Given the description of an element on the screen output the (x, y) to click on. 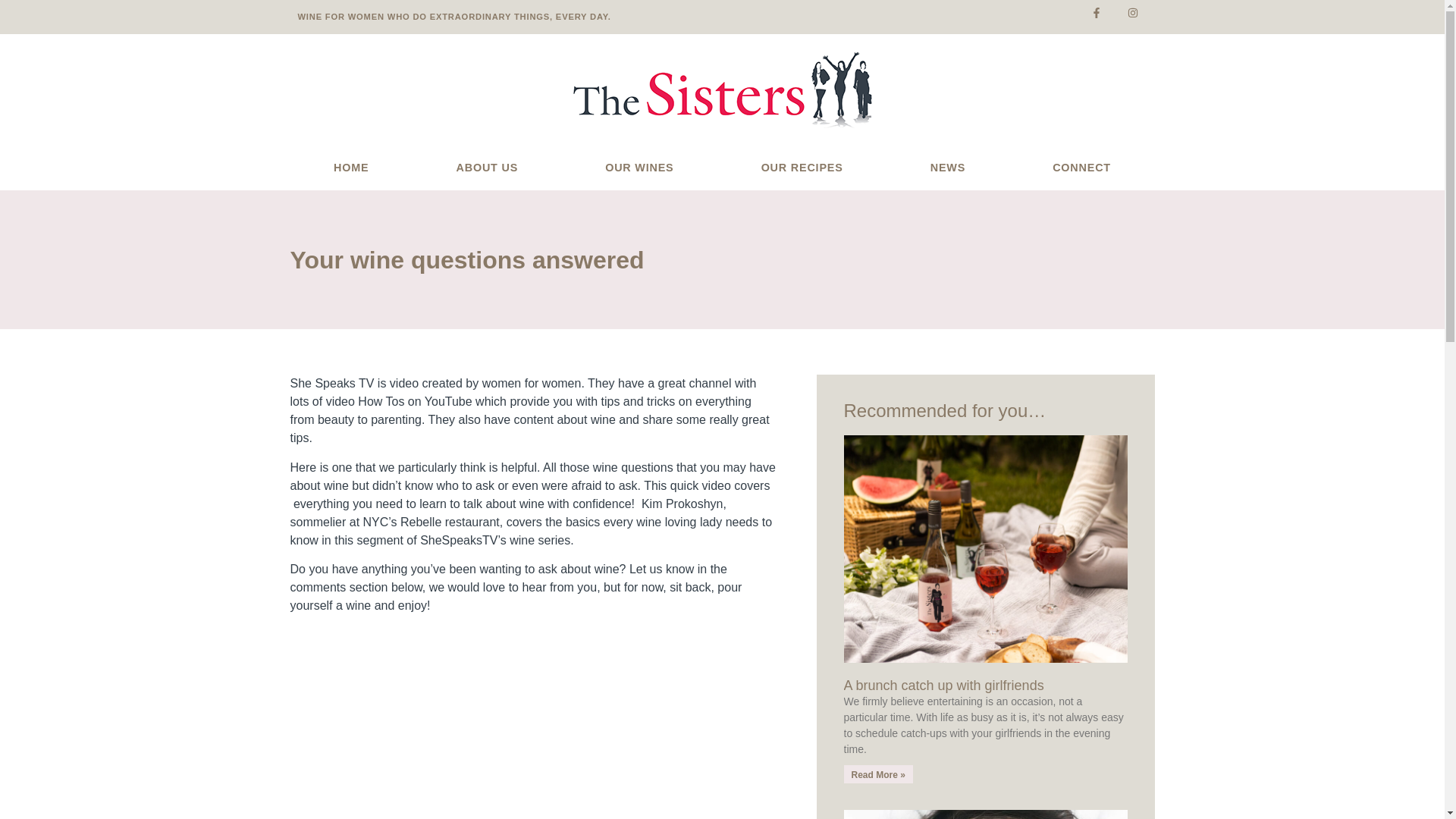
OUR WINES (639, 167)
ABOUT US (487, 167)
OUR RECIPES (801, 167)
NEWS (947, 167)
HOME (350, 167)
CONNECT (1081, 167)
A brunch catch up with girlfriends (943, 685)
